Given the description of an element on the screen output the (x, y) to click on. 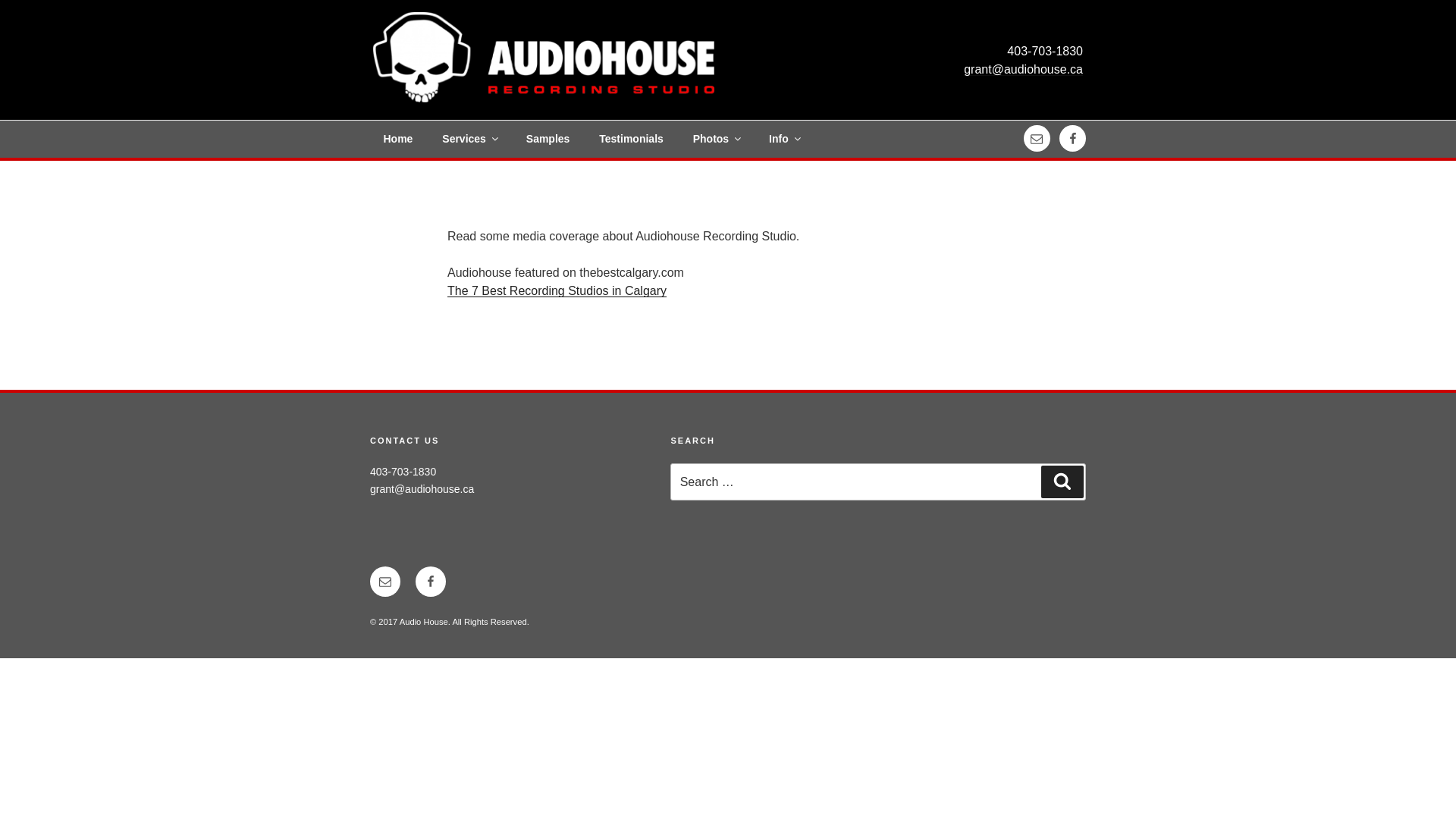
mail Element type: text (385, 581)
grant@audiohouse.ca Element type: text (1022, 68)
Search Element type: text (1062, 481)
grant@audiohouse.ca Element type: text (421, 489)
Home Element type: text (398, 138)
AUDIO HOUSE Element type: text (481, 28)
Info Element type: text (784, 138)
facebook Element type: text (1072, 138)
Photos Element type: text (715, 138)
The 7 Best Recording Studios in Calgary Element type: text (556, 290)
Testimonials Element type: text (631, 138)
Services Element type: text (469, 138)
mail Element type: text (1036, 138)
facebook Element type: text (430, 581)
Samples Element type: text (547, 138)
Skip to content Element type: text (0, 0)
